Given the description of an element on the screen output the (x, y) to click on. 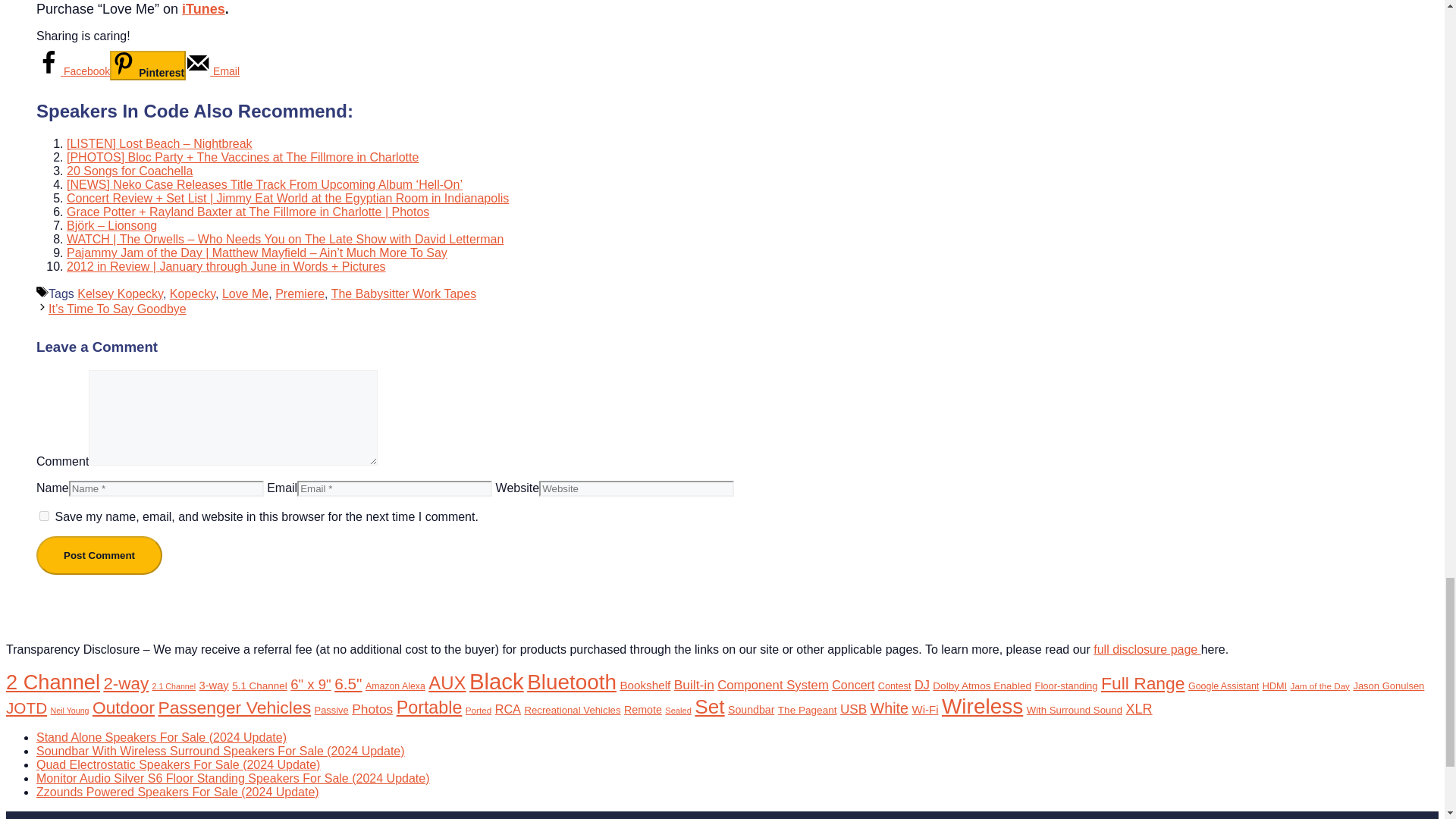
yes (44, 515)
Kopecky (192, 293)
20 Songs for Coachella (129, 170)
Love Me (244, 293)
Email (213, 70)
Share on Facebook (73, 70)
Post Comment (98, 555)
Send over email (213, 70)
Pinterest (148, 65)
Kelsey Kopecky (120, 293)
